Given the description of an element on the screen output the (x, y) to click on. 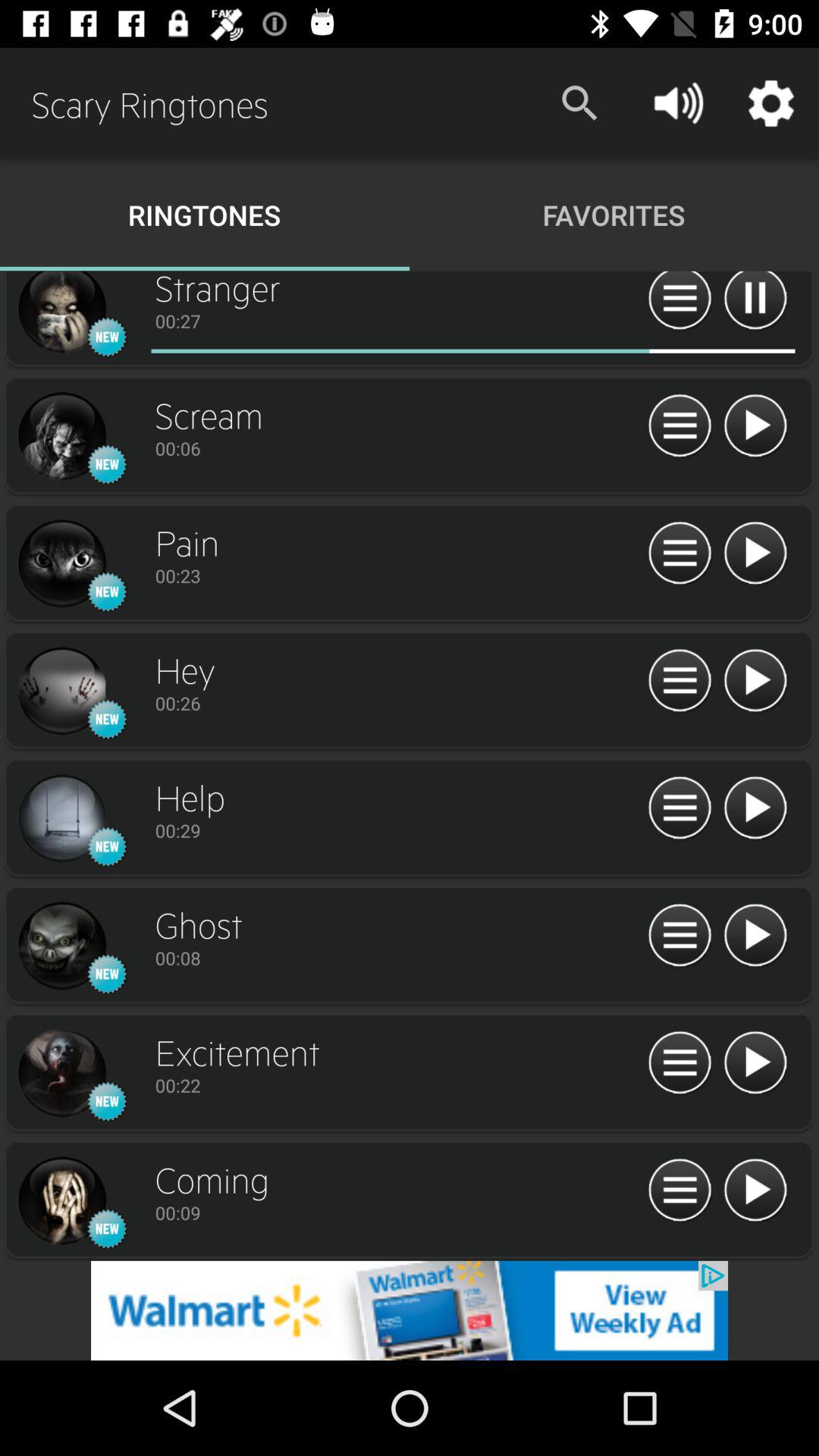
pause ringtone (755, 302)
